Given the description of an element on the screen output the (x, y) to click on. 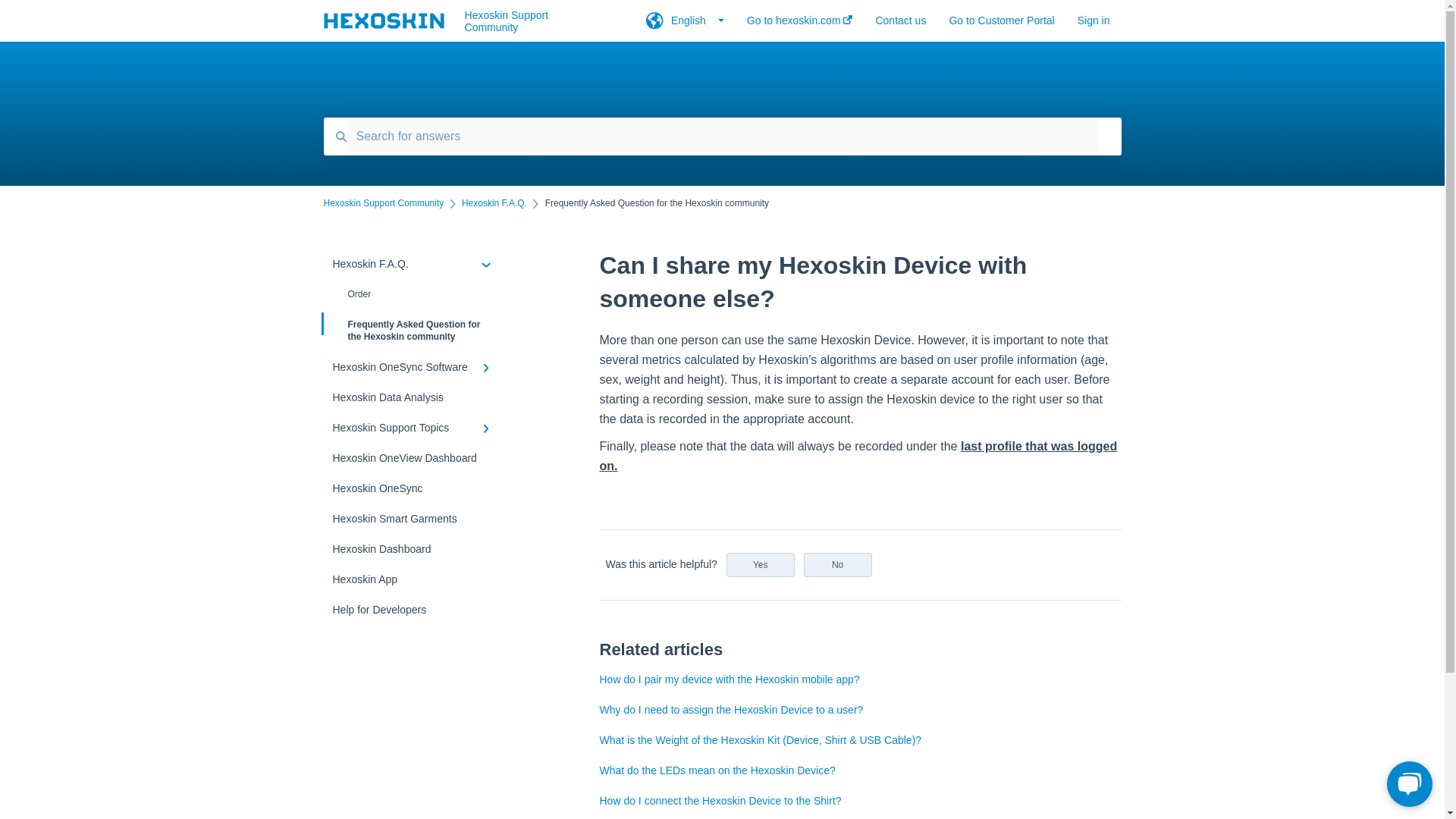
Contact us (900, 25)
Frequently Asked Question for the Hexoskin community (414, 330)
Go to Customer Portal (1001, 25)
Hexoskin Support Community (383, 203)
Hexoskin OneSync Software (414, 367)
Hexoskin F.A.Q. (494, 203)
Hexoskin Support Community (531, 21)
Hexoskin Data Analysis (414, 397)
Hexoskin F.A.Q. (414, 263)
Go to hexoskin.com (799, 25)
Order (414, 294)
English (684, 25)
